Given the description of an element on the screen output the (x, y) to click on. 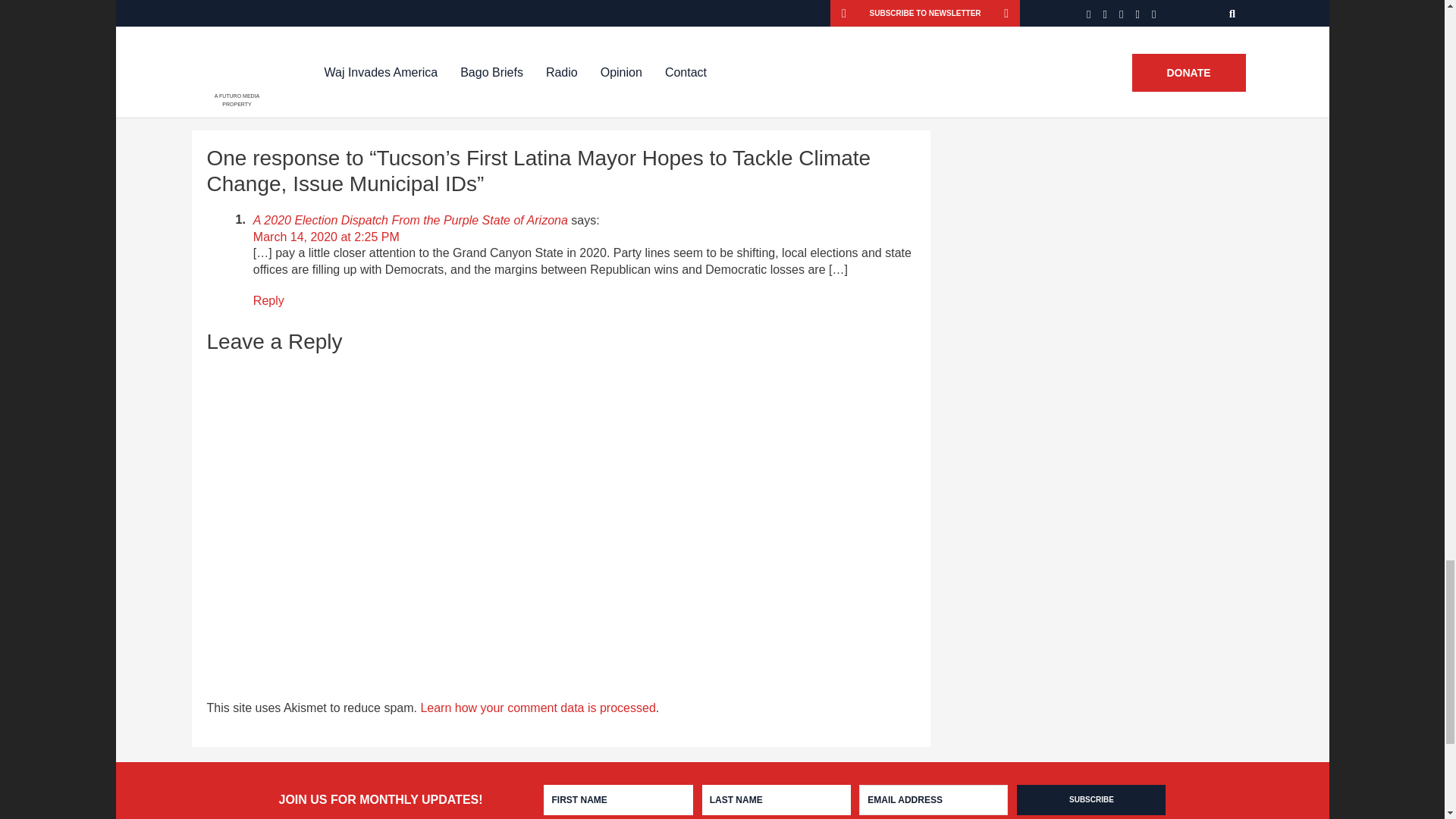
Click to share on Tumblr (564, 66)
Subscribe (1091, 799)
Click to share on Reddit (418, 66)
Click to share on Twitter (350, 66)
Reddit (418, 66)
Twitter (350, 66)
Click to share on Facebook (274, 66)
Click to share on LinkedIn (490, 66)
Facebook (274, 66)
